Given the description of an element on the screen output the (x, y) to click on. 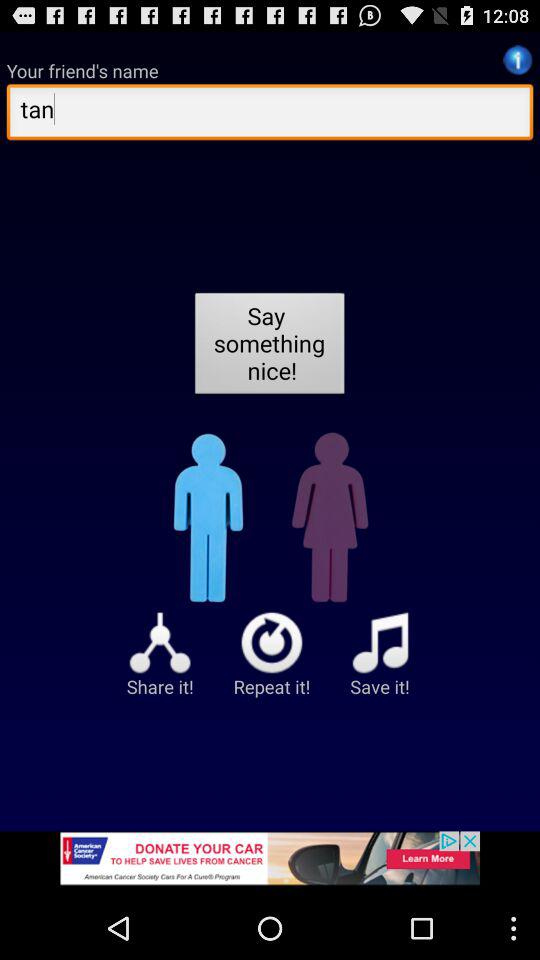
add the option (270, 864)
